Given the description of an element on the screen output the (x, y) to click on. 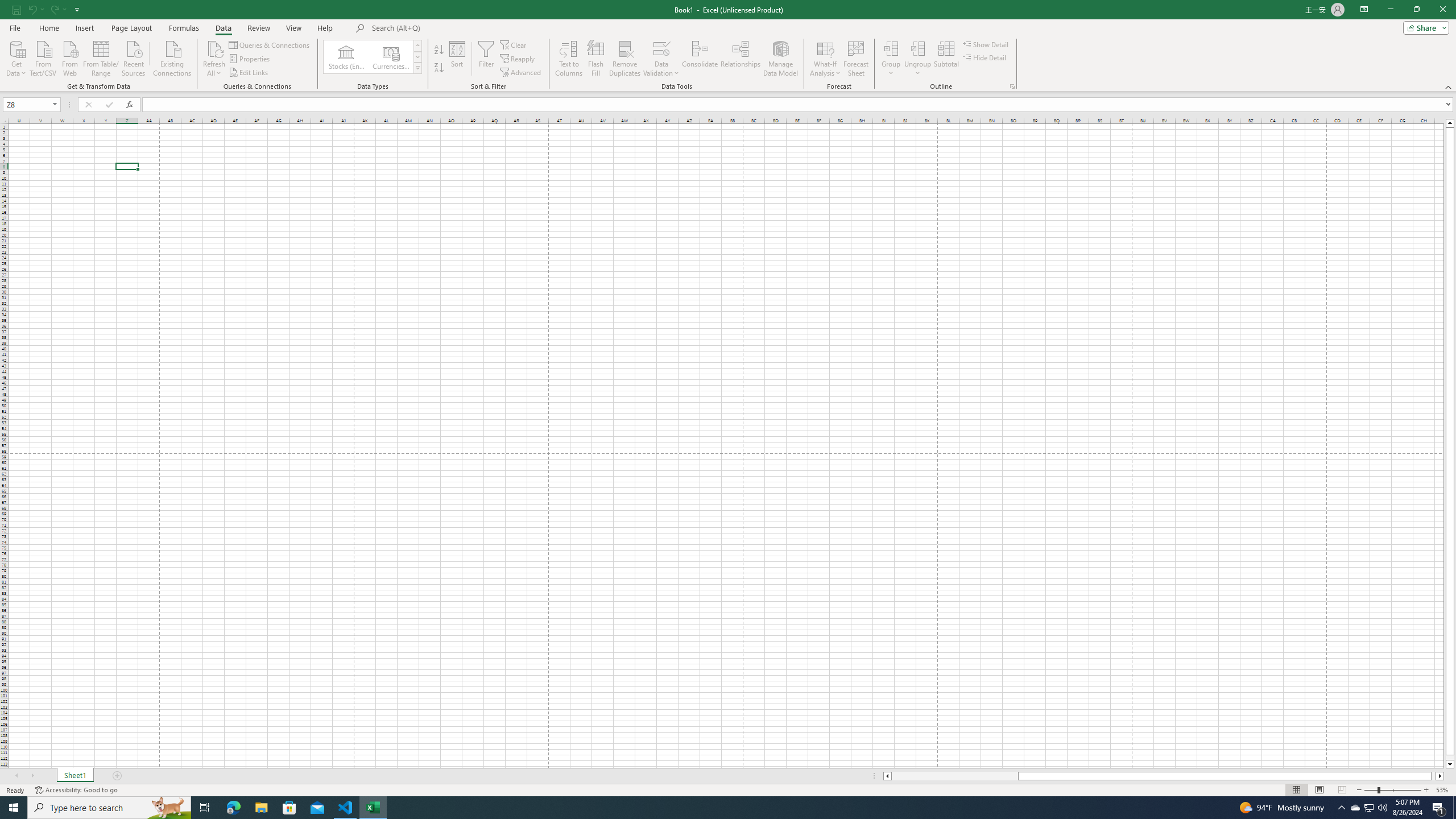
Recent Sources (133, 57)
Properties (250, 58)
Filter (485, 58)
Stocks (English) (346, 56)
Page left (954, 775)
Relationships (740, 58)
Advanced... (520, 72)
